Given the description of an element on the screen output the (x, y) to click on. 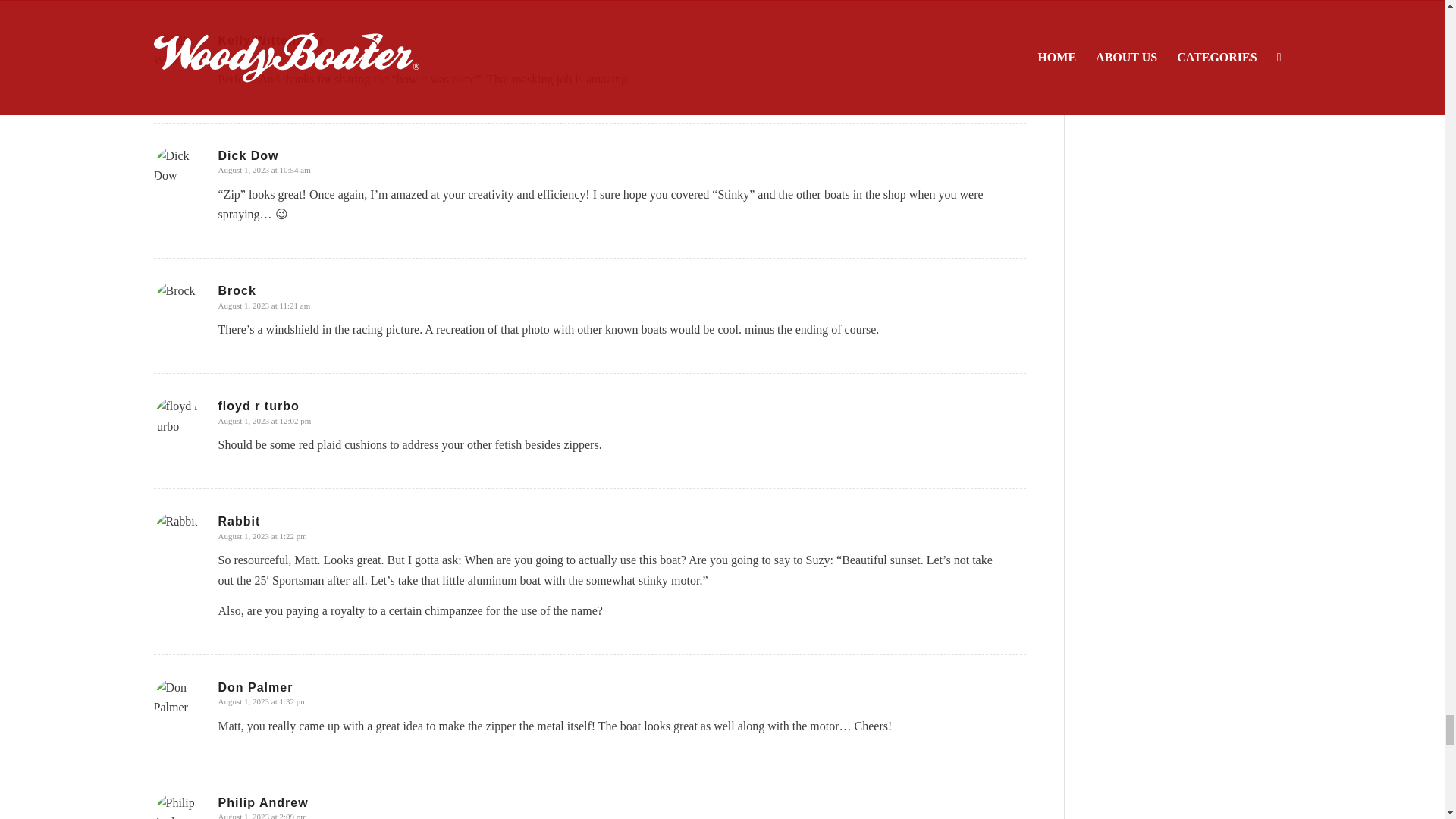
August 1, 2023 at 11:21 am (264, 305)
August 1, 2023 at 1:32 pm (262, 700)
August 1, 2023 at 1:22 pm (262, 535)
August 1, 2023 at 10:54 am (264, 169)
August 1, 2023 at 10:10 am (264, 53)
August 1, 2023 at 12:02 pm (264, 420)
